Given the description of an element on the screen output the (x, y) to click on. 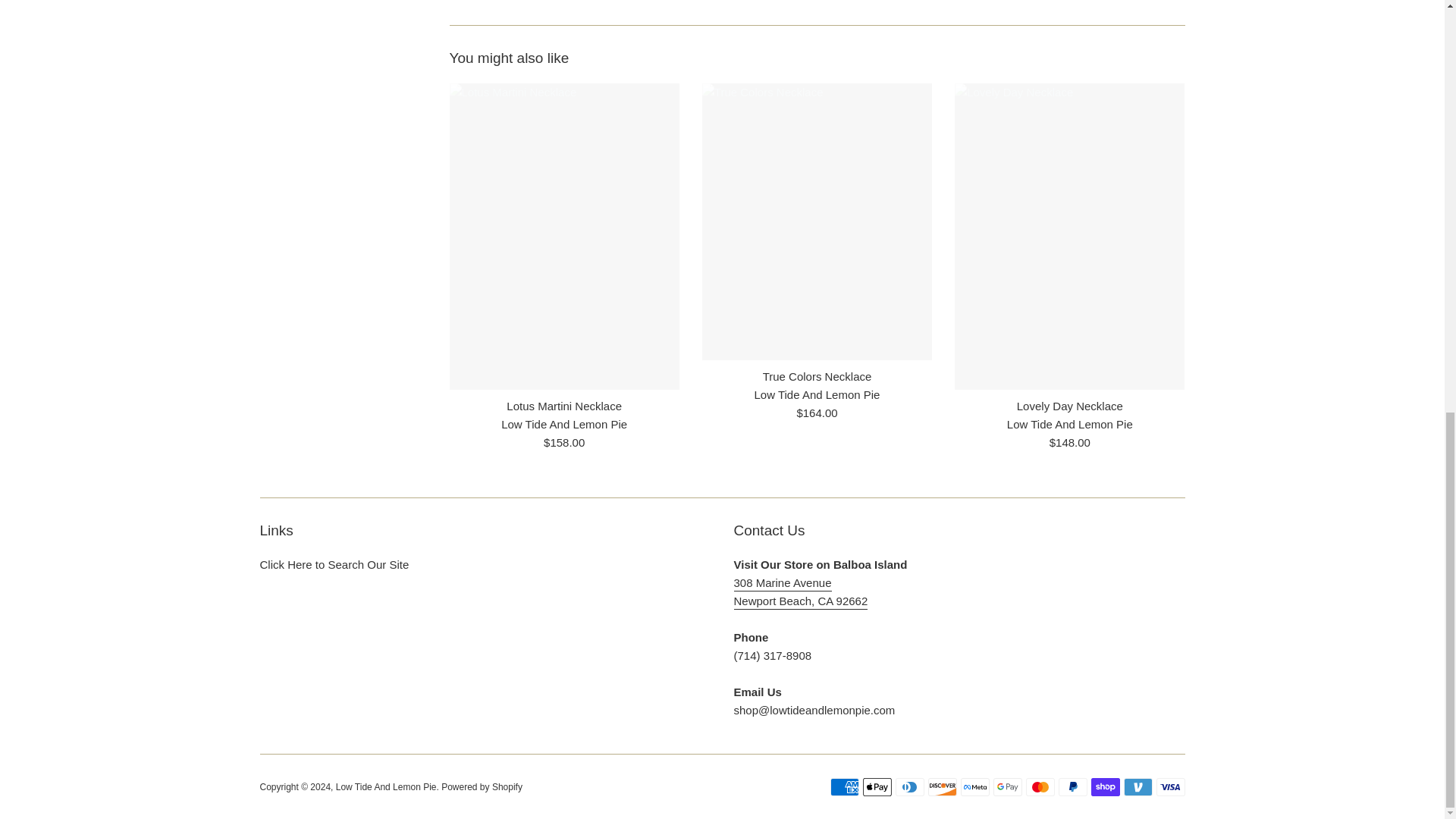
Low Tide And Lemon Pie (386, 787)
Mastercard (1039, 787)
Diners Club (909, 787)
Visa (1170, 787)
Powered by Shopify (481, 787)
Lovely Day Necklace (1069, 405)
Shop Pay (1104, 787)
American Express (844, 787)
Venmo (1138, 787)
Google Pay (1007, 787)
